Given the description of an element on the screen output the (x, y) to click on. 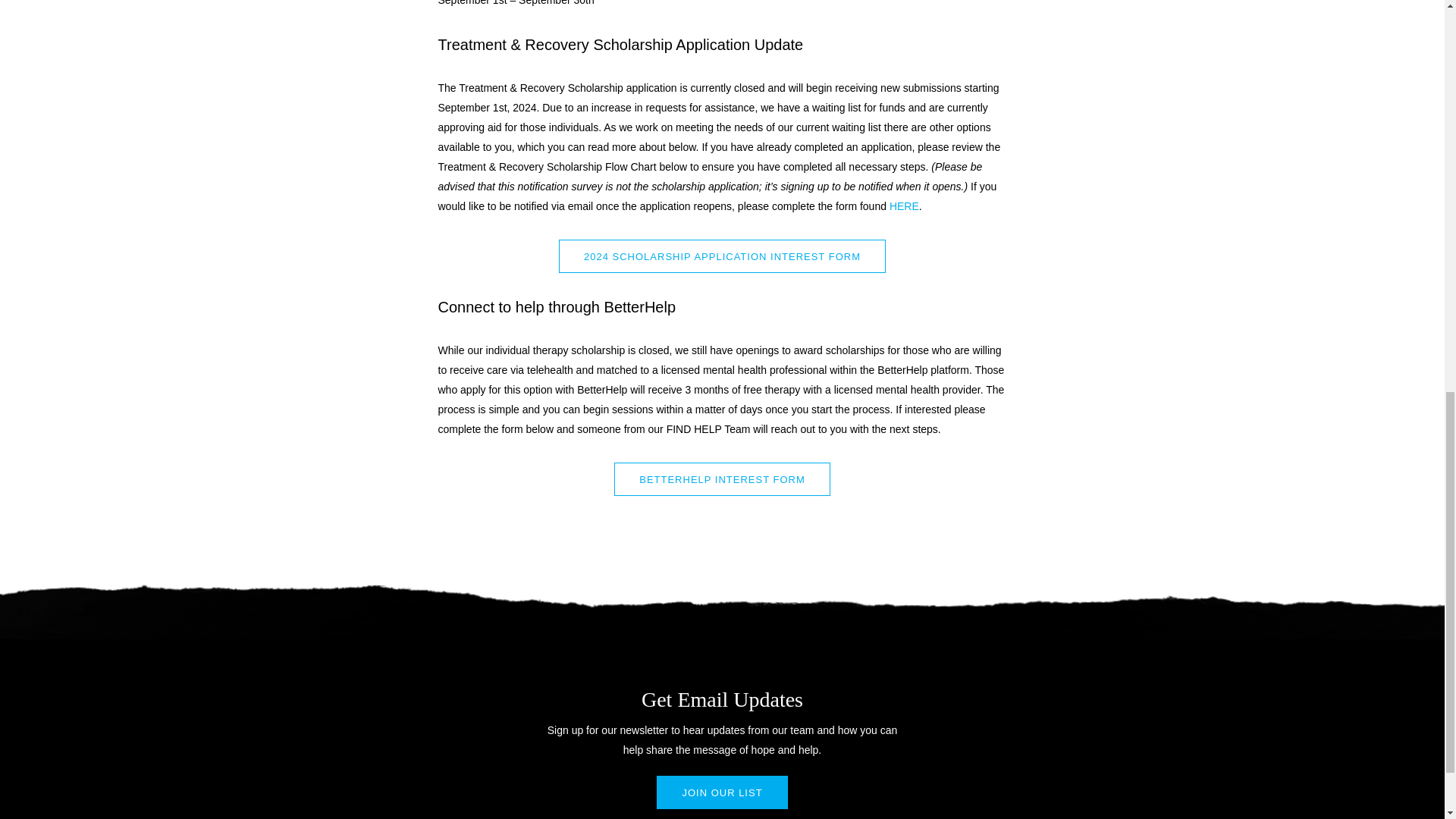
2024 SCHOLARSHIP APPLICATION INTEREST FORM (722, 255)
BETTERHELP INTEREST FORM (721, 479)
HERE (903, 205)
JOIN OUR LIST (721, 792)
